Given the description of an element on the screen output the (x, y) to click on. 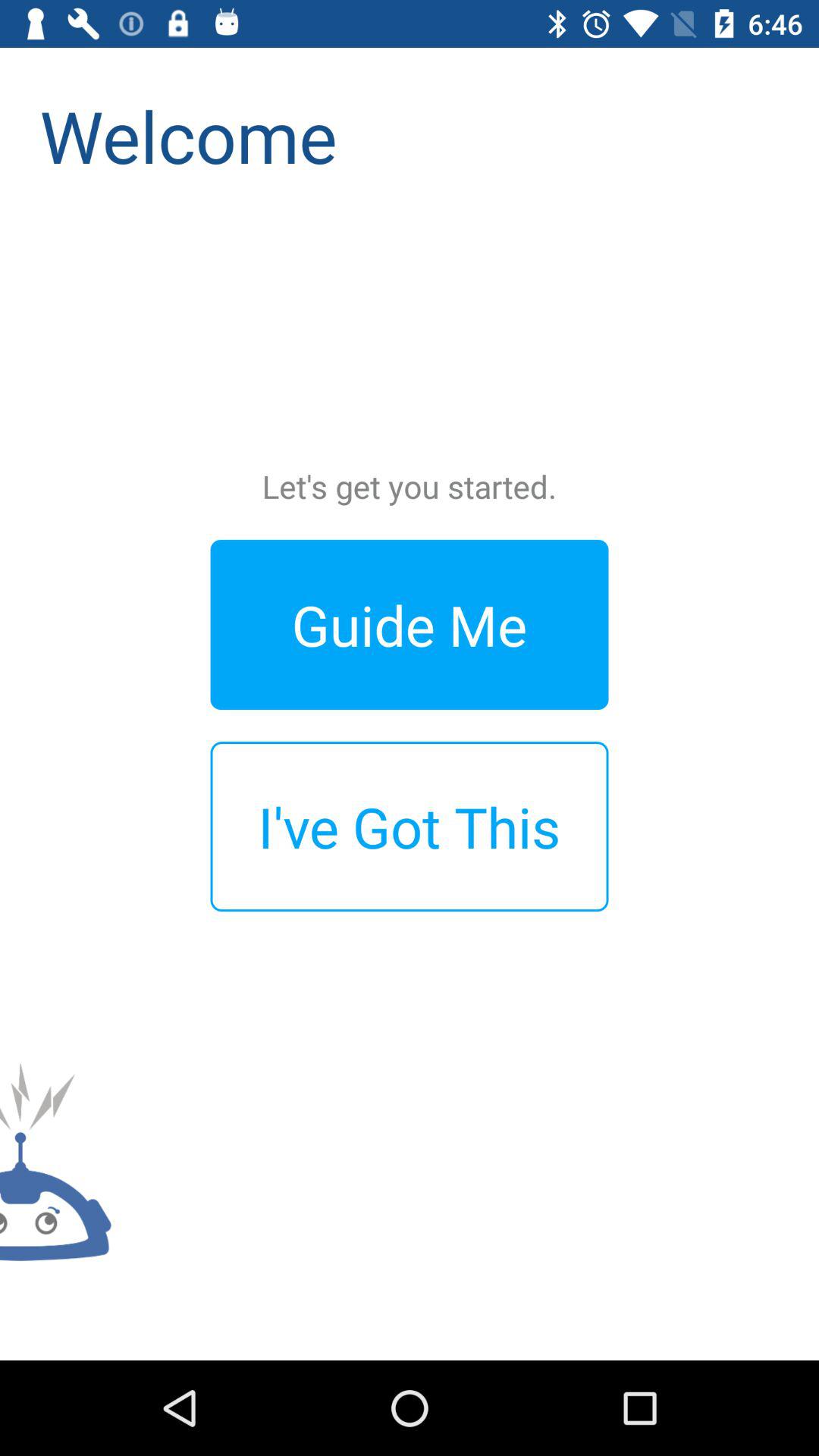
scroll until the guide me icon (409, 624)
